Given the description of an element on the screen output the (x, y) to click on. 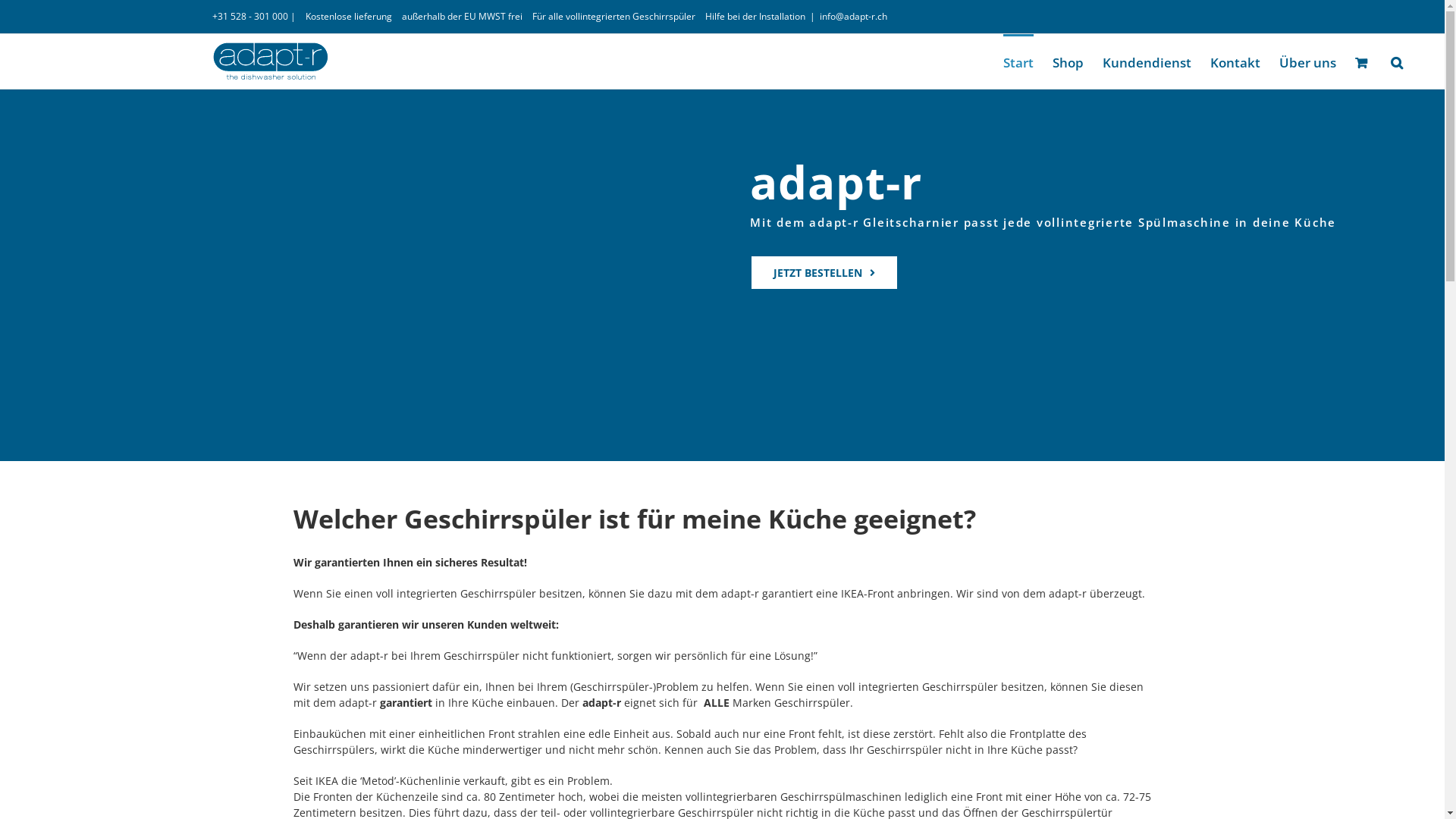
YouTube video player 1 Element type: hover (396, 278)
info@adapt-r.ch Element type: text (853, 15)
Kontakt Element type: text (1235, 61)
Kundendienst Element type: text (1146, 61)
Start Element type: text (1018, 61)
JETZT BESTELLEN Element type: text (823, 272)
Shop Element type: text (1067, 61)
Suche Element type: hover (1396, 61)
